Given the description of an element on the screen output the (x, y) to click on. 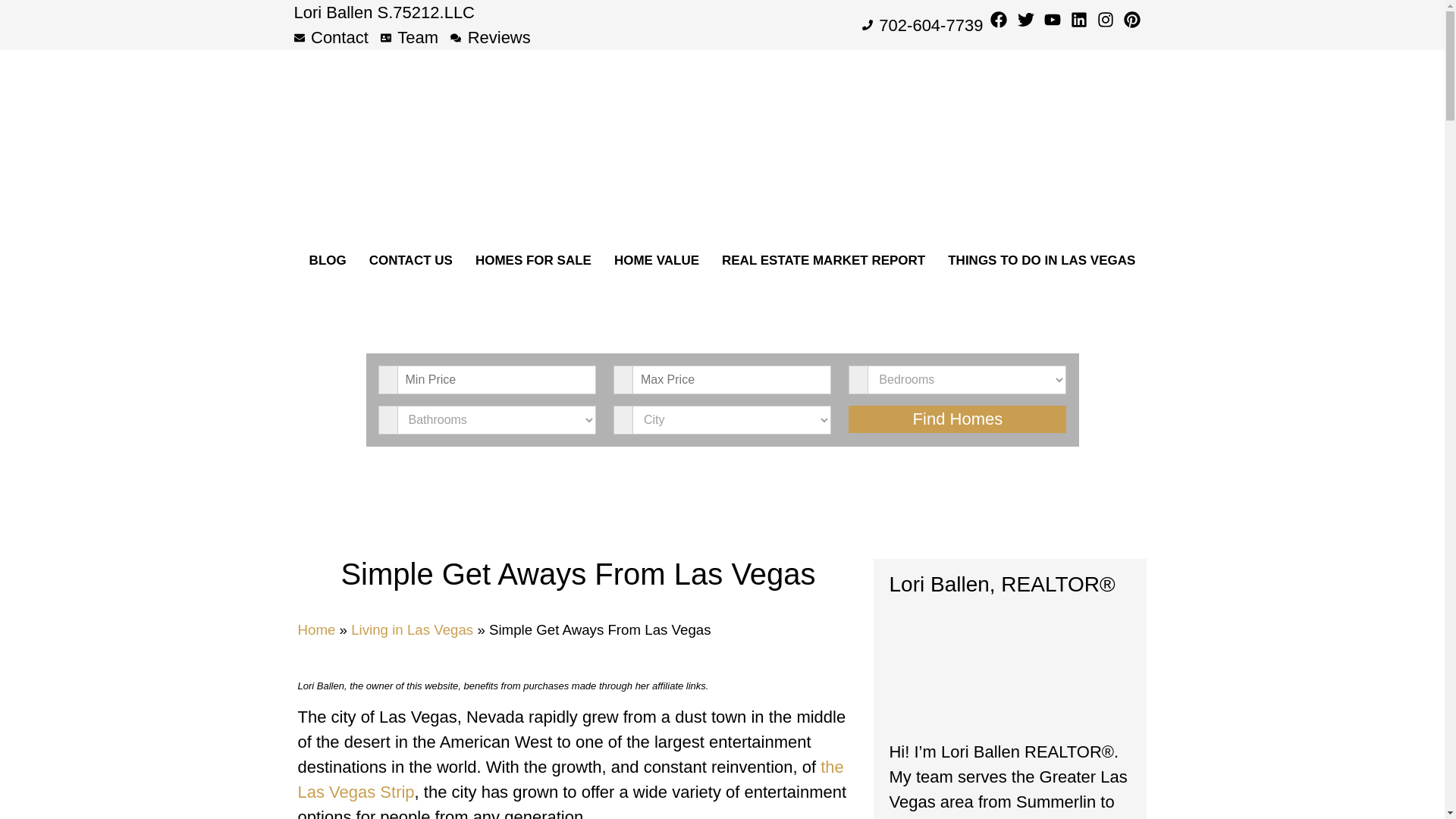
Reviews (490, 37)
702-604-7739 (922, 24)
HOME VALUE (656, 260)
CONTACT US (411, 260)
THINGS TO DO IN LAS VEGAS (1041, 260)
Lori Ballen S.75212.LLC (385, 12)
HOMES FOR SALE (533, 260)
Contact Lori Ballen Team (411, 260)
Team (409, 37)
BLOG (328, 260)
